Given the description of an element on the screen output the (x, y) to click on. 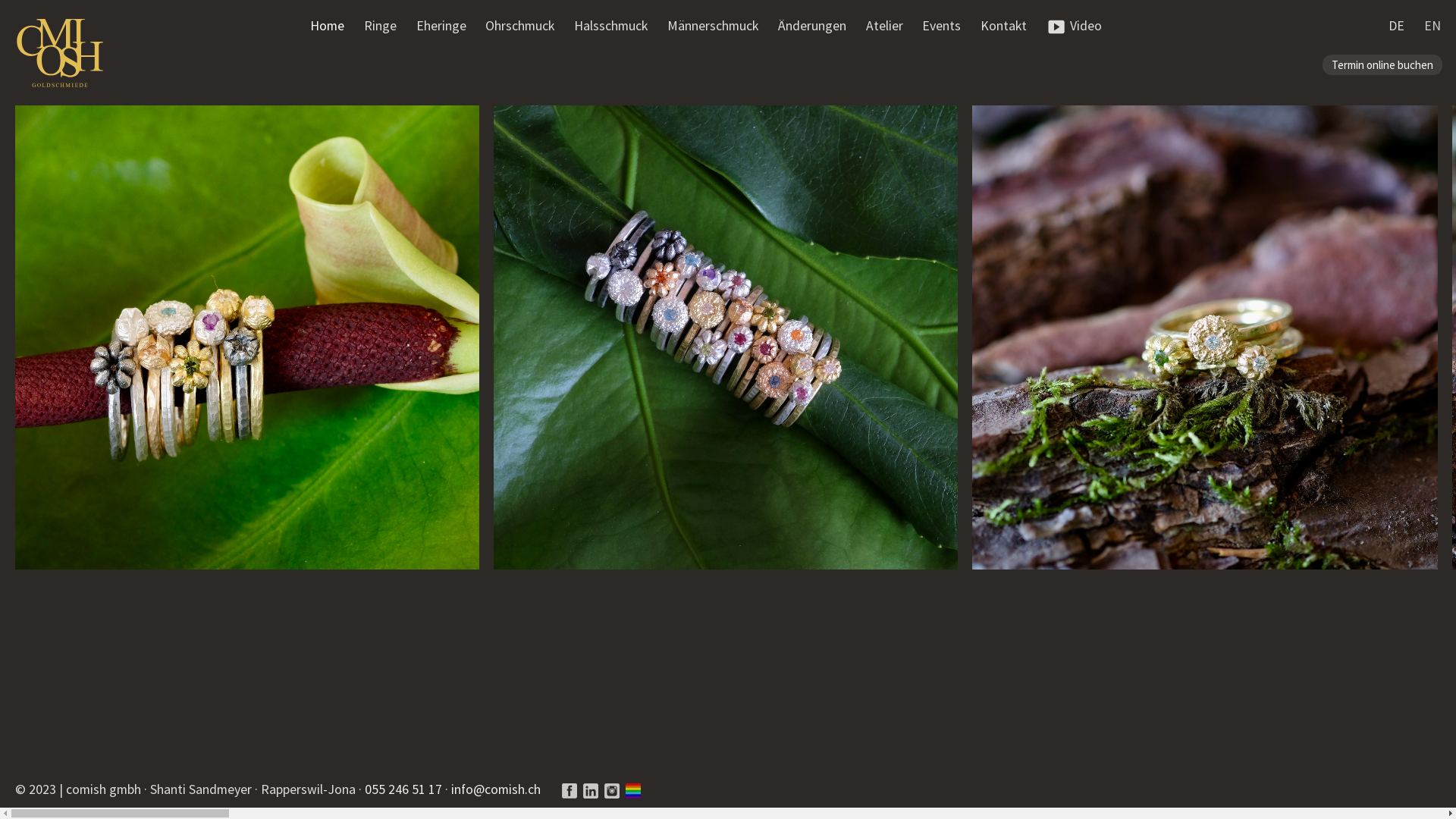
Skip to content Element type: text (353, 25)
055 246 51 17 Element type: text (403, 788)
Events Element type: text (941, 25)
Termin online buchen Element type: text (1382, 64)
Ringe Element type: text (380, 25)
Home Element type: text (327, 25)
Eheringe Element type: text (440, 25)
Halsschmuck Element type: text (610, 25)
Video Element type: text (1073, 25)
EN Element type: text (1432, 25)
Ohrschmuck Element type: text (519, 25)
Atelier Element type: text (884, 25)
info@comish.ch Element type: text (495, 788)
Kontakt Element type: text (1003, 25)
